Given the description of an element on the screen output the (x, y) to click on. 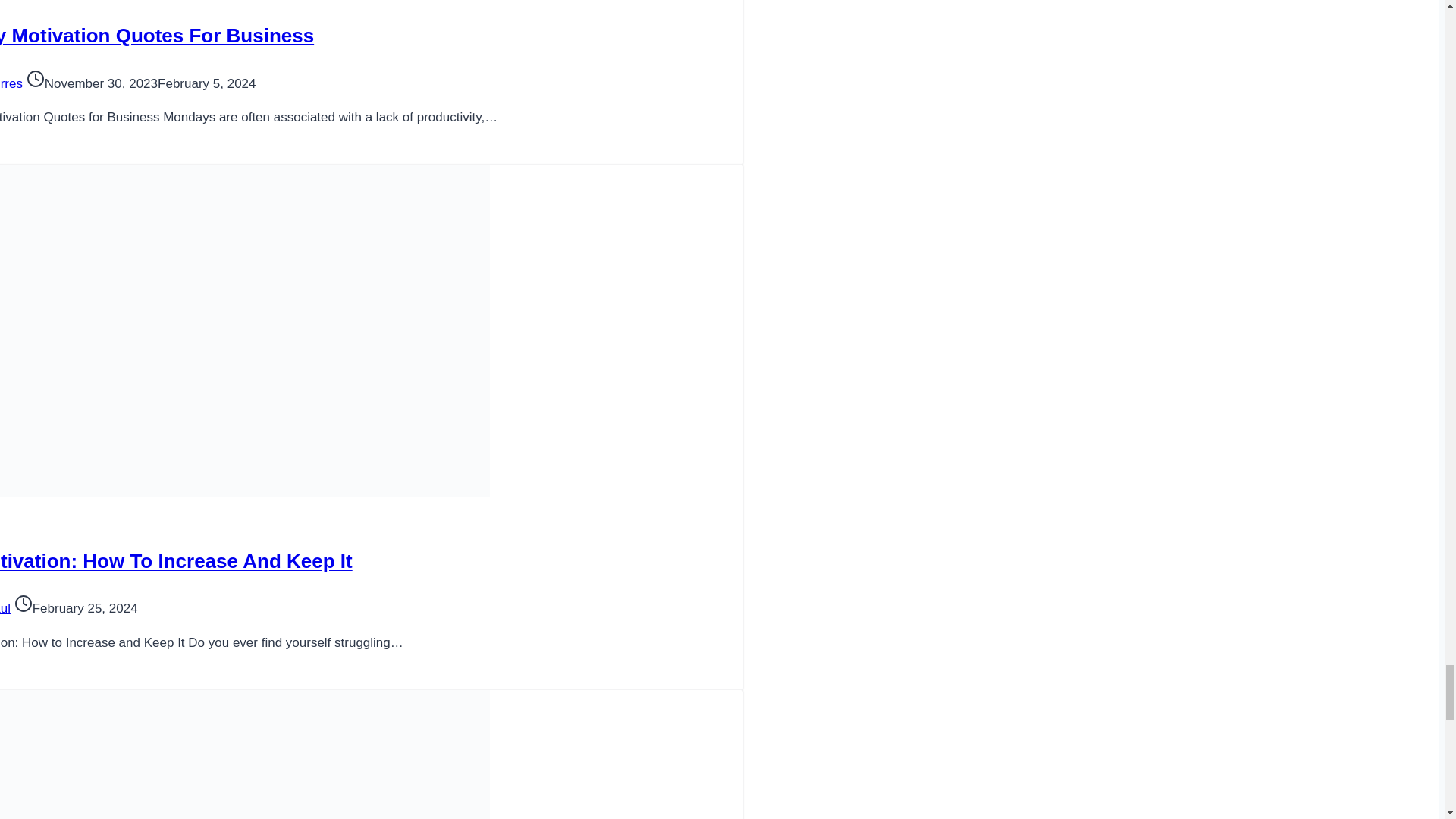
Menzi Borres (11, 83)
Monday Motivation Quotes For Business (157, 35)
Job Motivation: How To Increase And Keep It (176, 560)
